Given the description of an element on the screen output the (x, y) to click on. 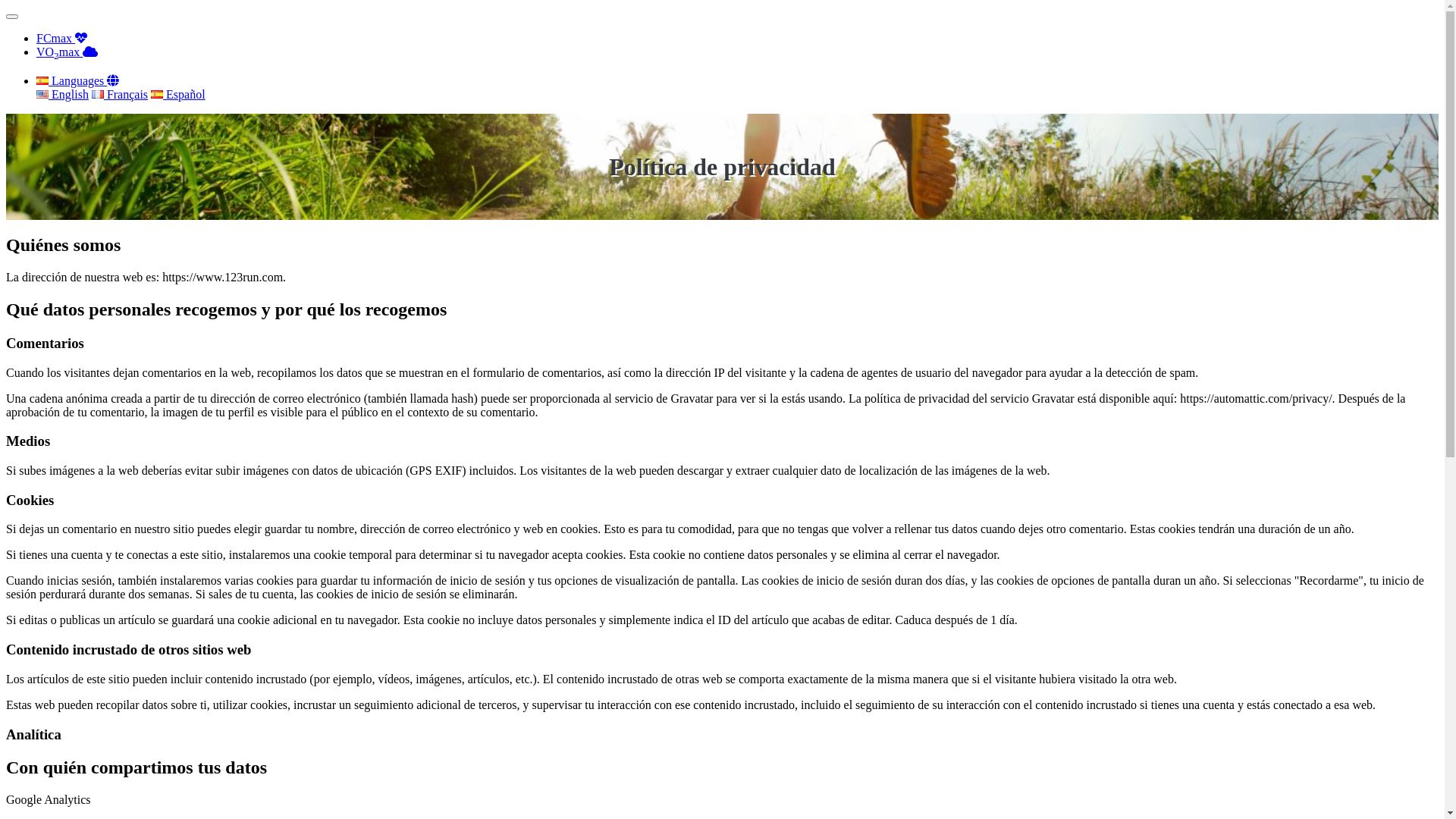
English Element type: text (62, 93)
VO2max Element type: text (66, 51)
FCmax Element type: text (61, 37)
Languages Element type: text (77, 80)
